Given the description of an element on the screen output the (x, y) to click on. 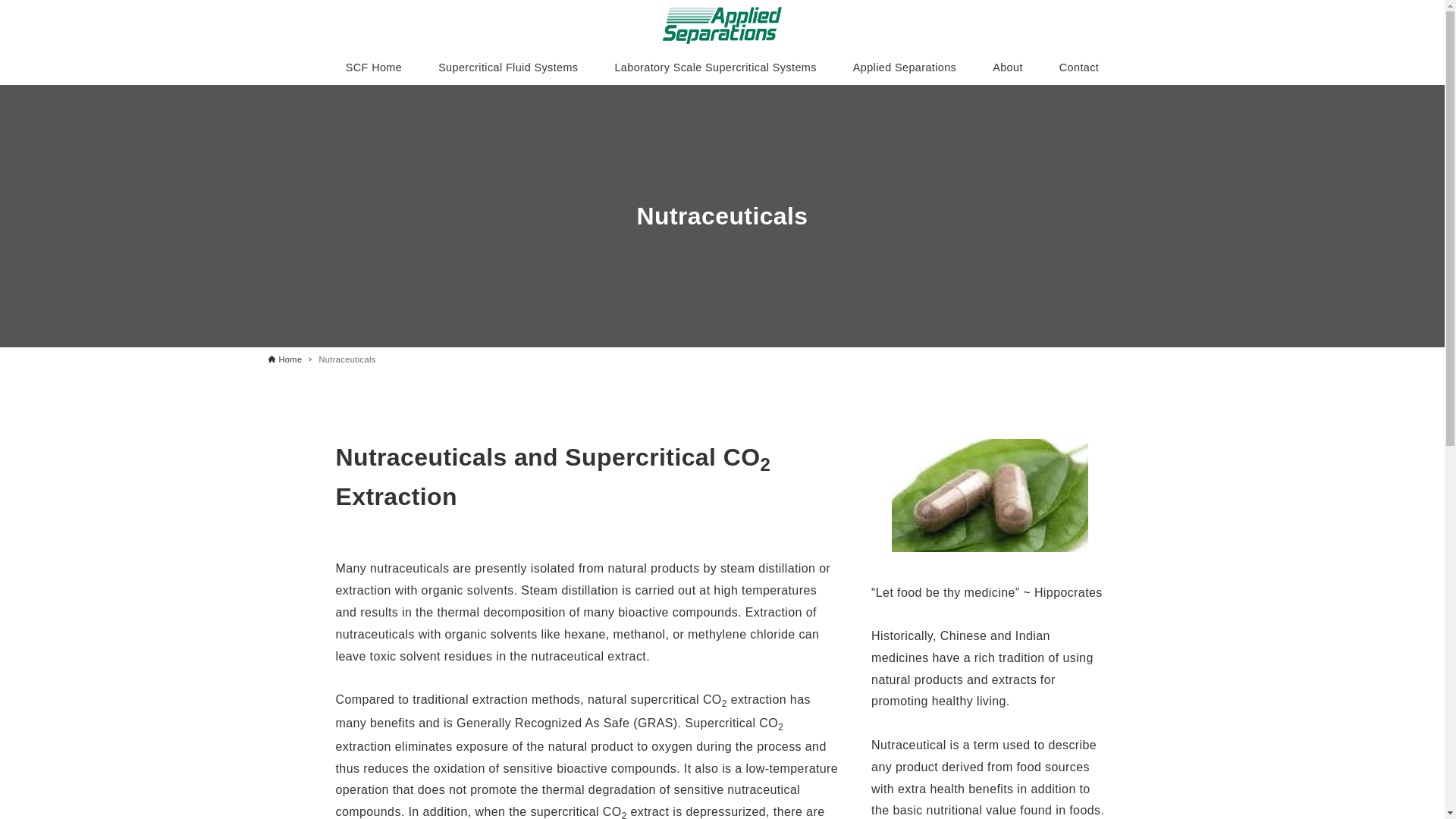
neutraceutical (989, 494)
